Given the description of an element on the screen output the (x, y) to click on. 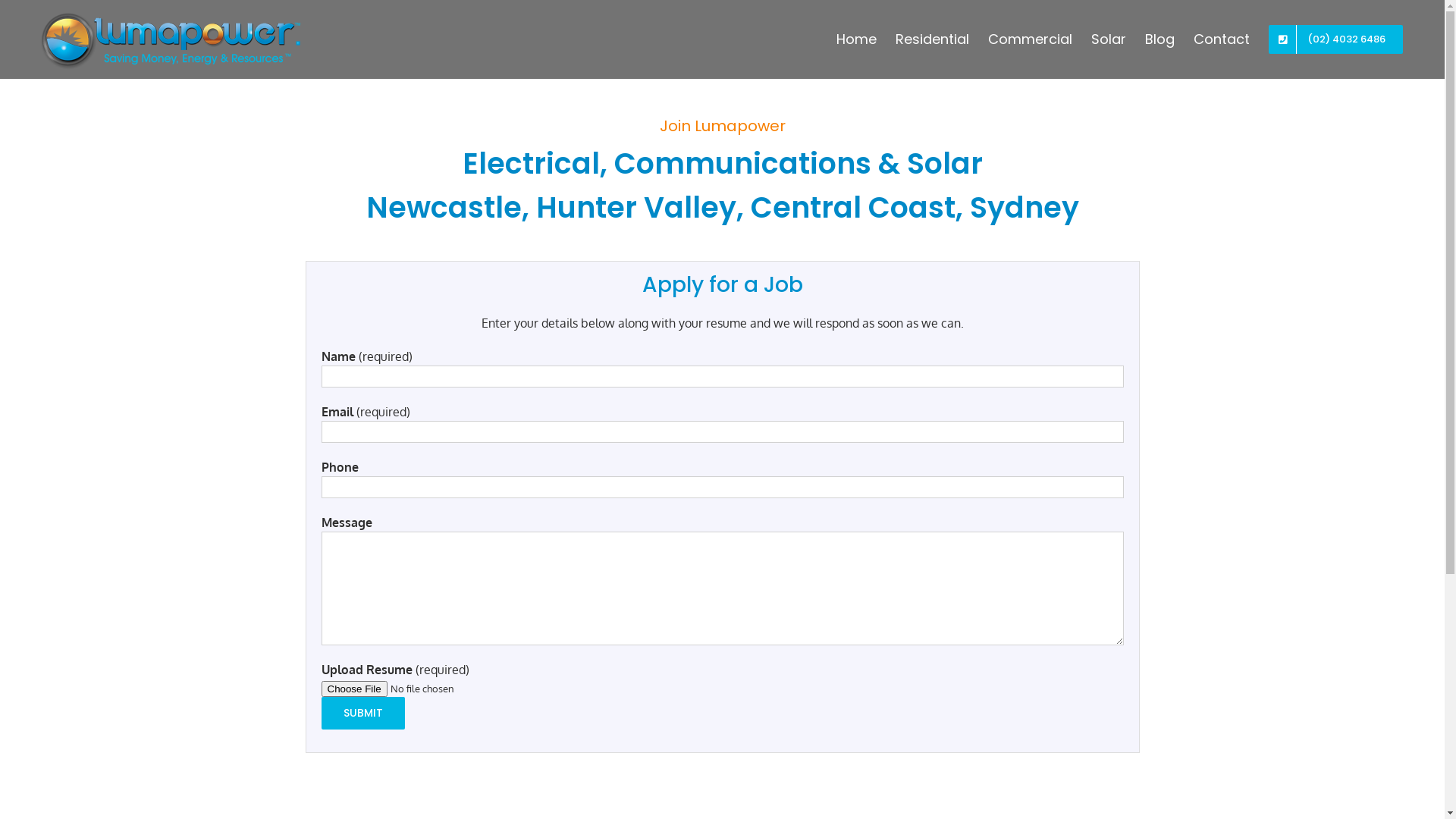
Blog Element type: text (1159, 39)
(02) 4032 6486 Element type: text (1335, 39)
Commercial Element type: text (1030, 39)
Home Element type: text (856, 39)
Residential Element type: text (932, 39)
Solar Element type: text (1108, 39)
Submit Element type: text (362, 712)
Contact Element type: text (1221, 39)
